Given the description of an element on the screen output the (x, y) to click on. 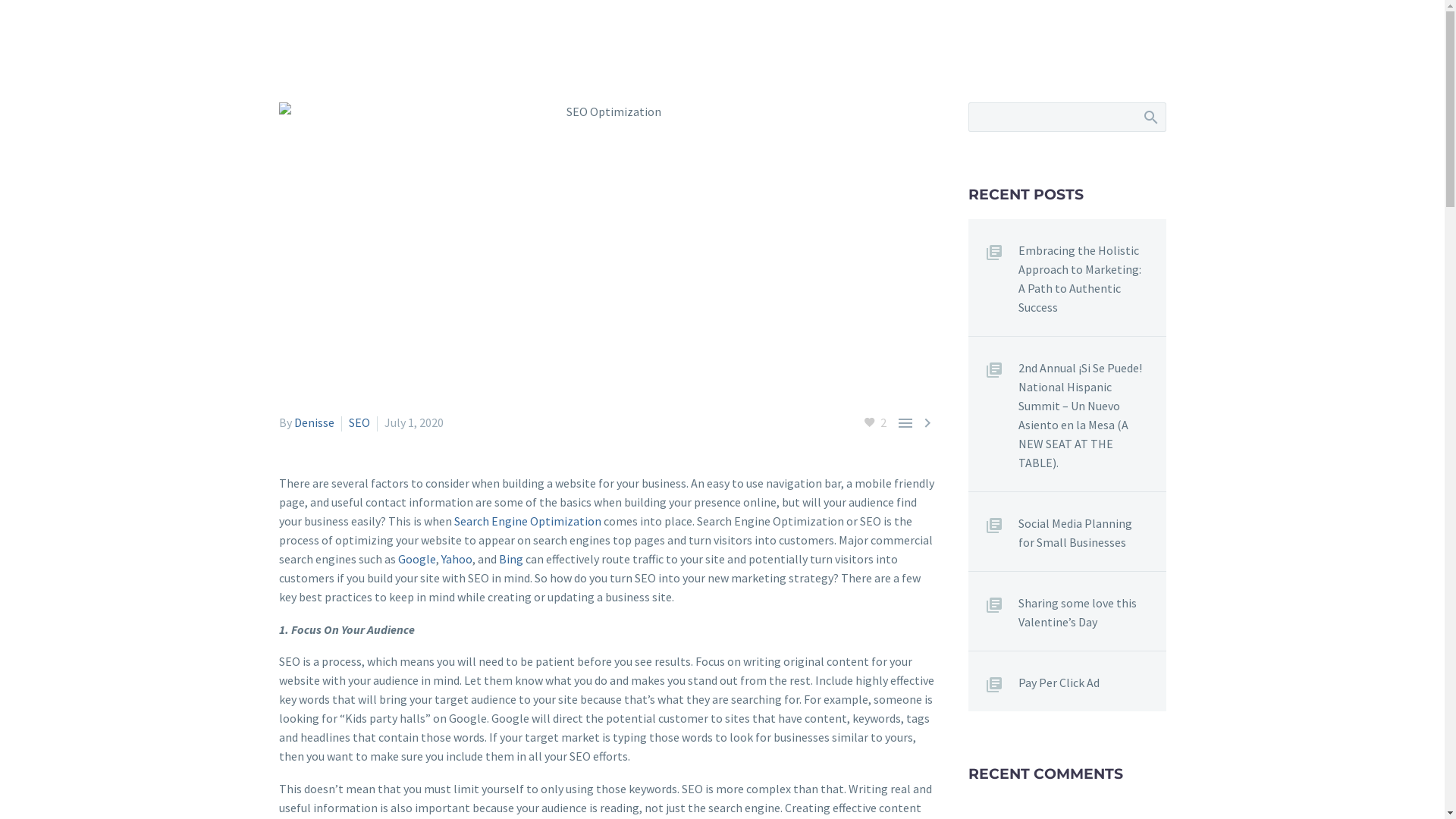
SEO Element type: text (359, 421)
2 Element type: text (873, 422)
Denisse Element type: text (314, 421)
Search Engine Optimization Element type: text (526, 520)
Social Media Planning for Small Businesses Element type: text (1091, 529)
SEARCH Element type: text (1148, 116)
Google Element type: text (416, 558)
Yahoo Element type: text (456, 558)
Bing Element type: text (510, 558)
Pay Per Click Ad Element type: text (1091, 679)
